Given the description of an element on the screen output the (x, y) to click on. 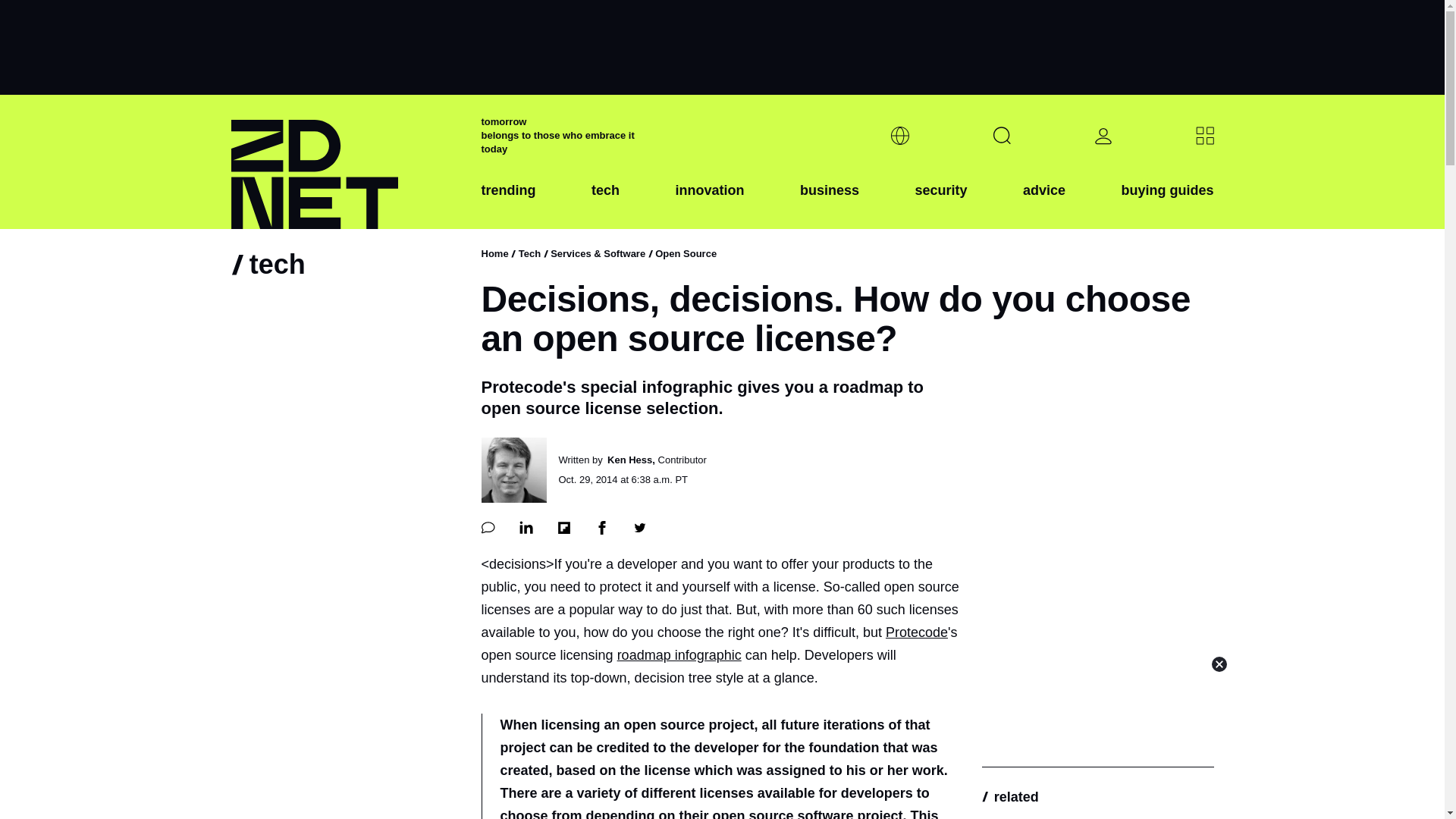
trending (507, 202)
ZDNET (346, 162)
